Given the description of an element on the screen output the (x, y) to click on. 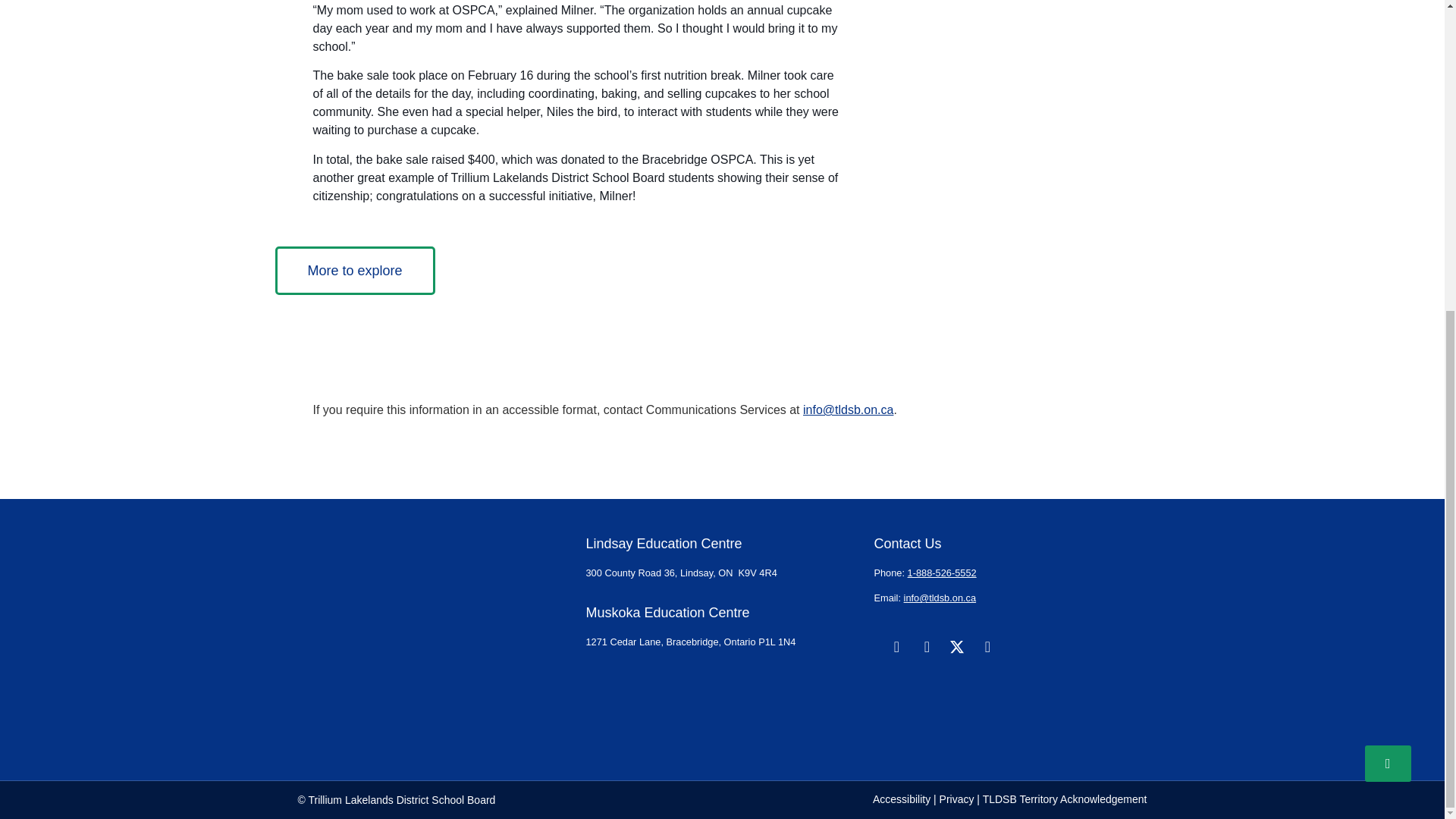
1-888-526-5552 (941, 572)
Accessibility (901, 799)
Privacy (956, 799)
More to explore (354, 270)
TLDSB Territory Acknowledgement (1064, 799)
